Given the description of an element on the screen output the (x, y) to click on. 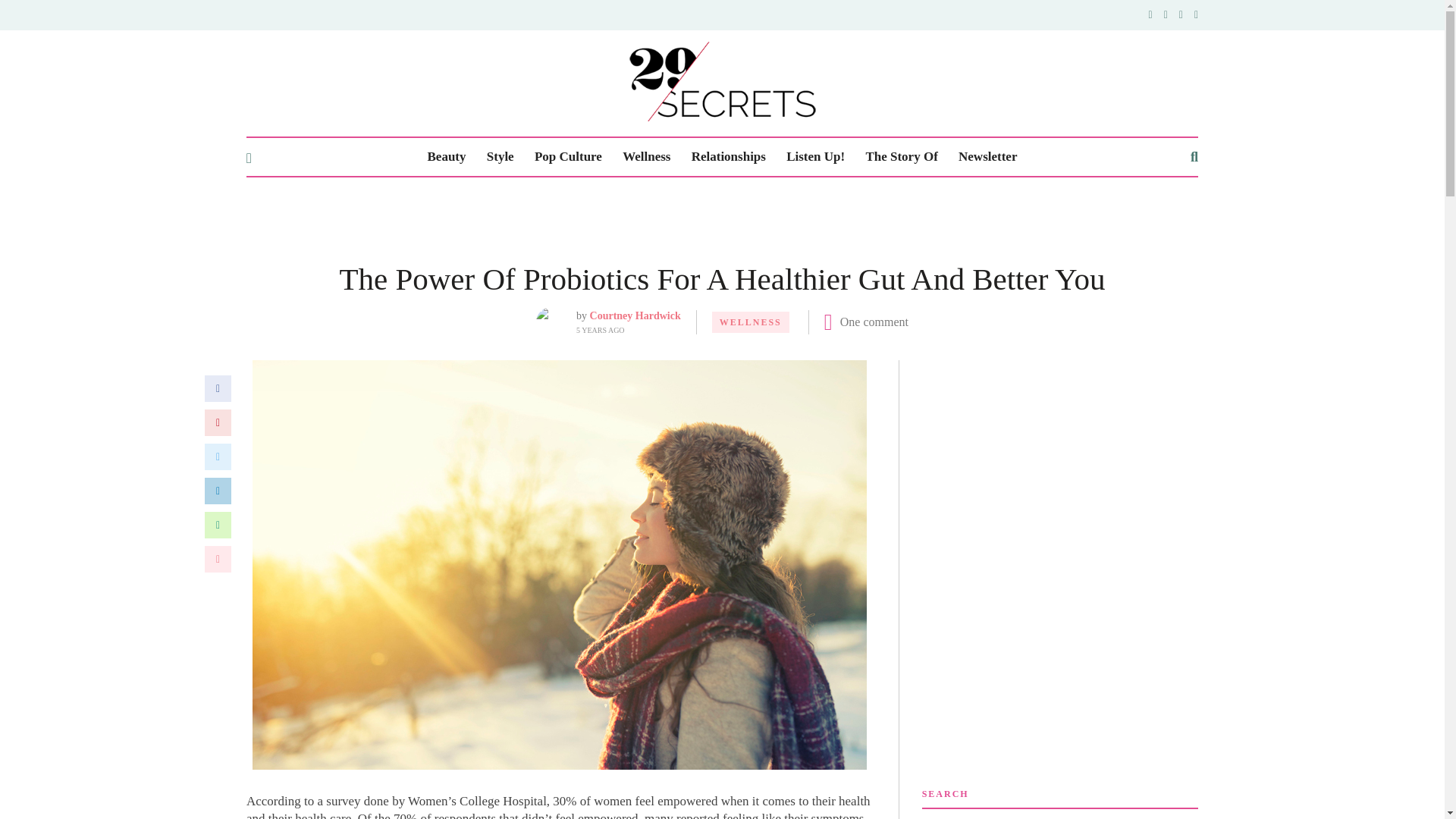
29Secrets (721, 81)
Wellness (646, 157)
Pop Culture (568, 157)
Courtney Hardwick (635, 315)
Newsletter (987, 157)
Beauty (446, 157)
WELLNESS (750, 322)
The Story Of (900, 157)
Relationships (728, 157)
Listen Up! (815, 157)
